Given the description of an element on the screen output the (x, y) to click on. 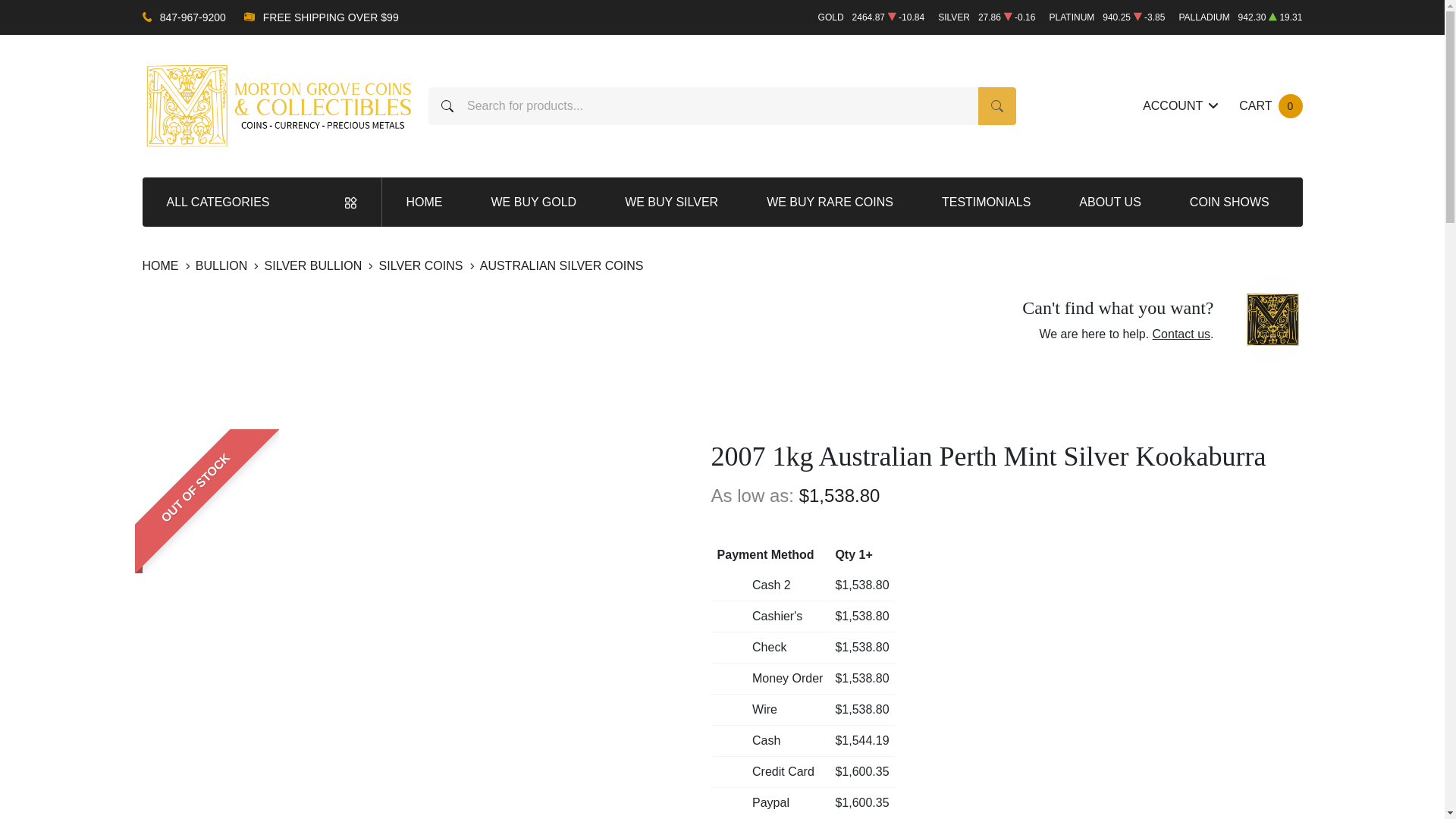
HOME (1270, 105)
TESTIMONIALS (424, 201)
COIN SHOWS (985, 201)
WE BUY SILVER (1230, 201)
WE BUY GOLD (670, 201)
WE BUY RARE COINS (534, 201)
SEARCH (829, 201)
ACCOUNT (997, 105)
847-967-9200 (1179, 106)
